Given the description of an element on the screen output the (x, y) to click on. 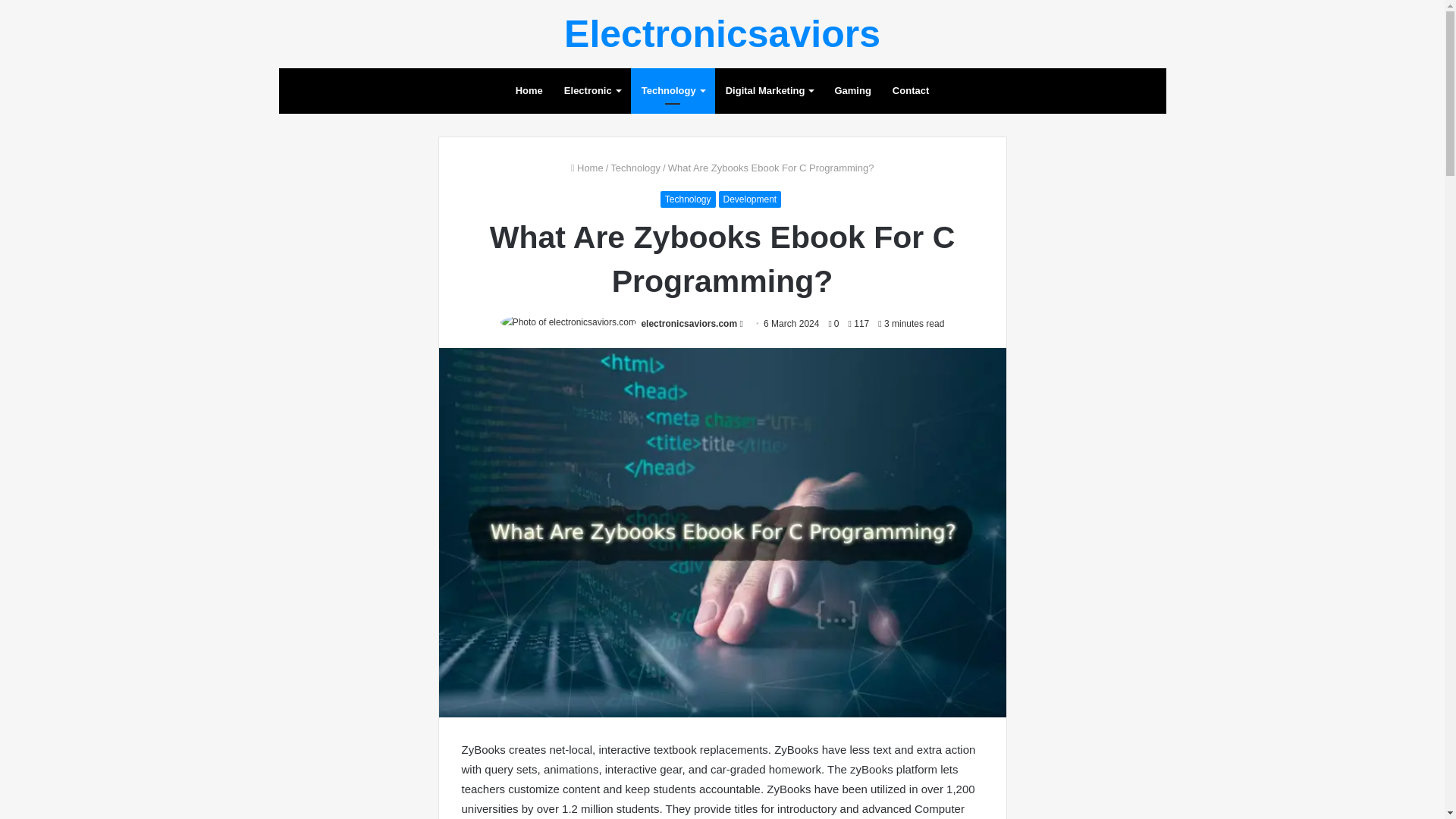
Home (587, 167)
Contact (910, 90)
Home (529, 90)
Gaming (852, 90)
Electronicsaviors (722, 34)
electronicsaviors.com (688, 323)
Digital Marketing (769, 90)
Electronic (591, 90)
Technology (672, 90)
electronicsaviors.com (688, 323)
Technology (635, 167)
Development (750, 199)
Technology (688, 199)
Electronicsaviors (722, 34)
